Given the description of an element on the screen output the (x, y) to click on. 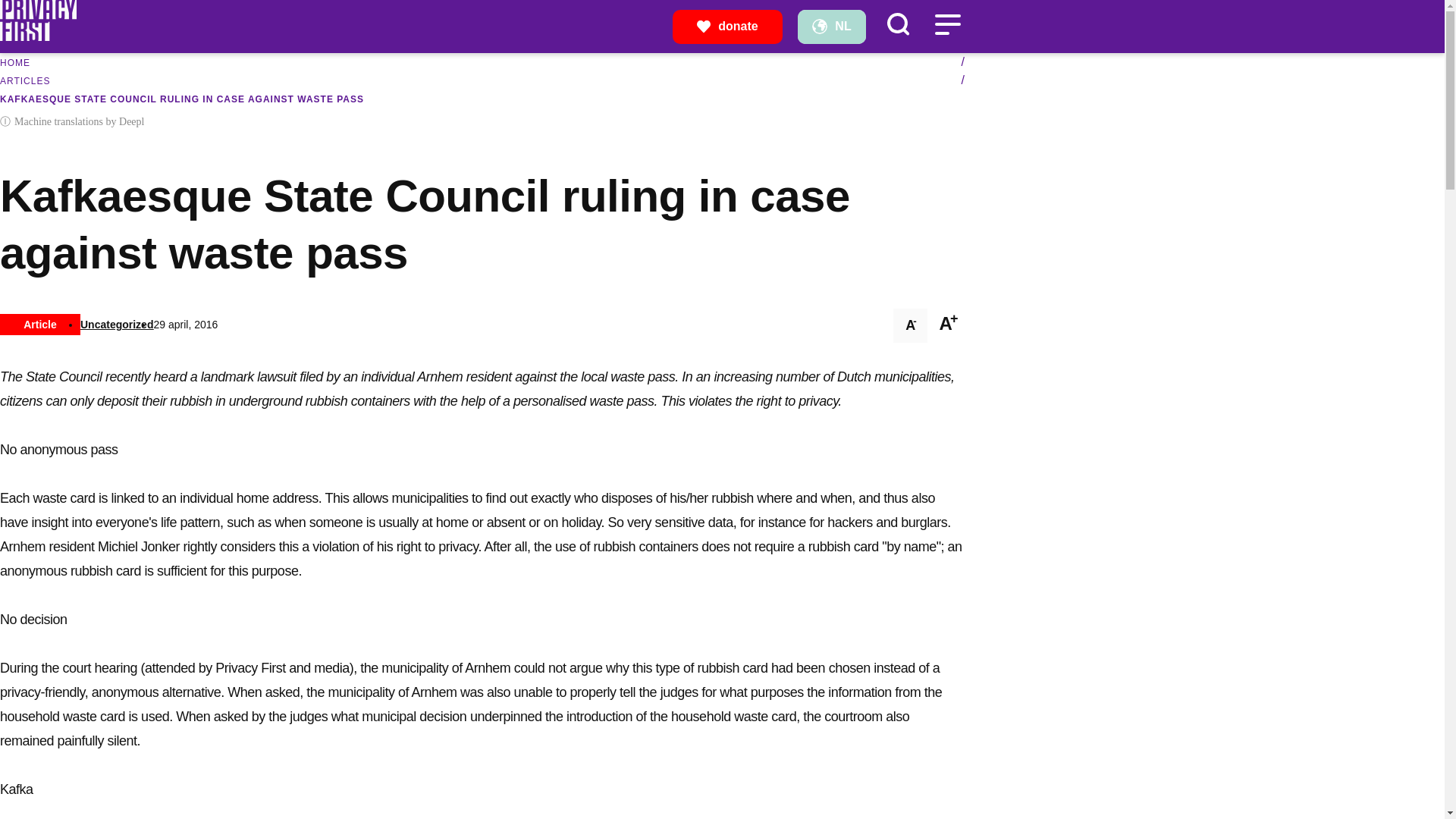
Open menu (946, 24)
A- (910, 325)
KAFKAESQUE STATE COUNCIL RULING IN CASE AGAINST WASTE PASS (182, 99)
Donate (727, 26)
HOME (15, 62)
Uncategorized (116, 324)
Dutch (831, 26)
donate (727, 26)
ARTICLES (24, 81)
Privacy First (38, 36)
